Given the description of an element on the screen output the (x, y) to click on. 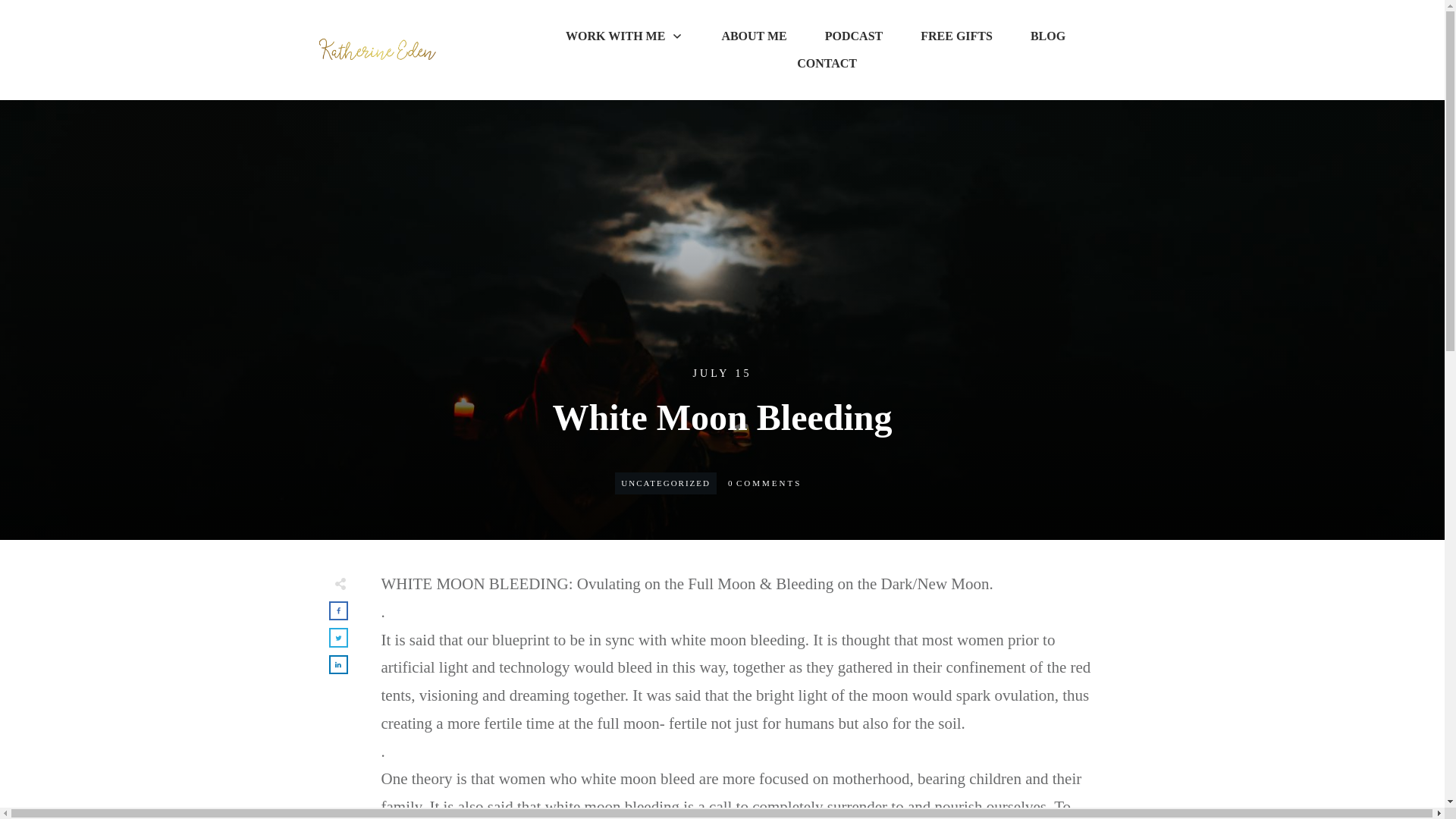
CONTACT (826, 63)
UNCATEGORIZED (665, 482)
WORK WITH ME (624, 36)
Uncategorized (665, 482)
BLOG (1047, 36)
PODCAST (853, 36)
FREE GIFTS (956, 36)
ABOUT ME (753, 36)
